Given the description of an element on the screen output the (x, y) to click on. 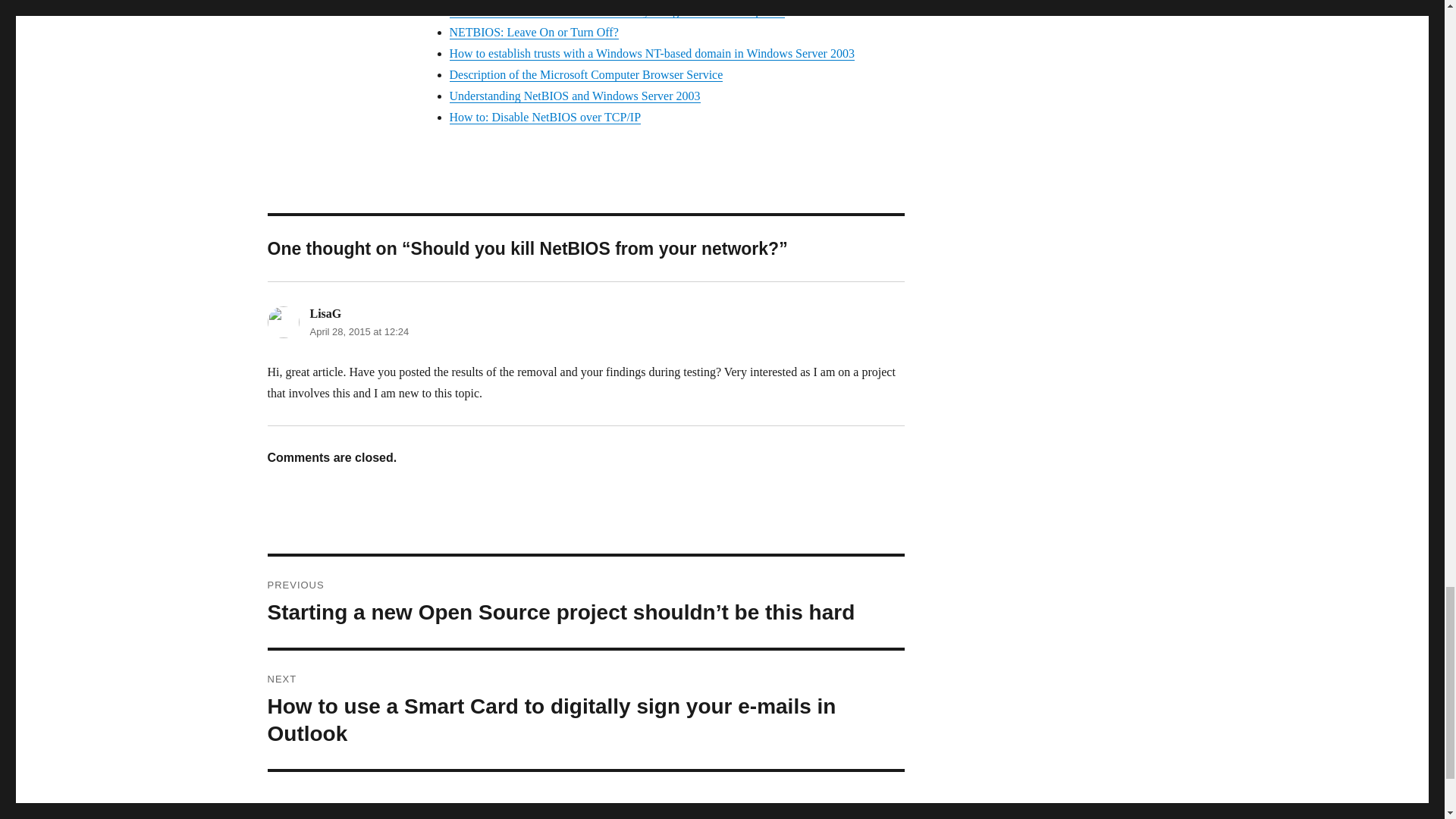
Description of the Microsoft Computer Browser Service (585, 74)
April 28, 2015 at 12:24 (358, 331)
Understanding NetBIOS and Windows Server 2003 (574, 95)
NETBIOS: Leave On or Turn Off? (532, 31)
